Given the description of an element on the screen output the (x, y) to click on. 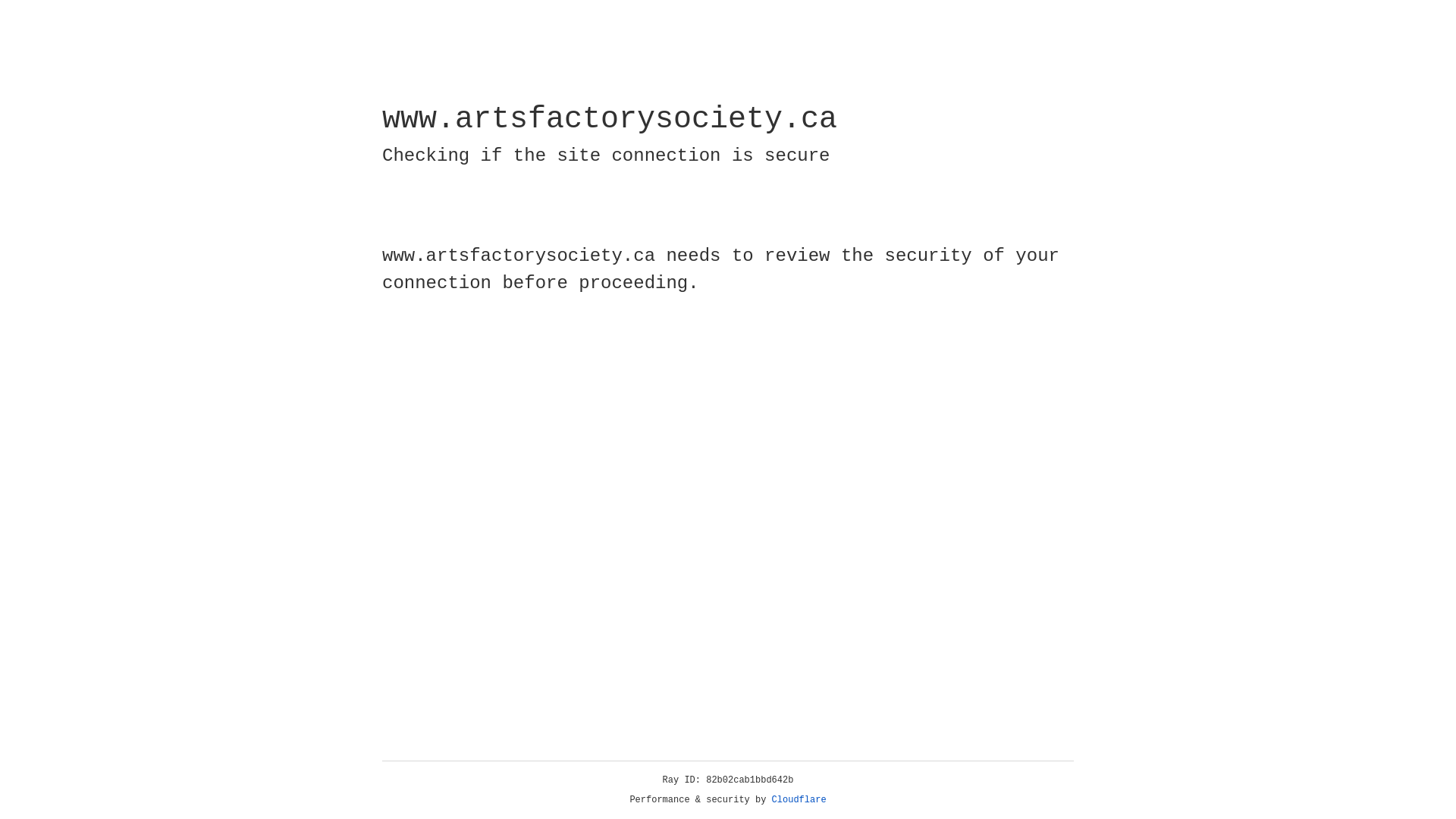
Cloudflare Element type: text (798, 799)
